Given the description of an element on the screen output the (x, y) to click on. 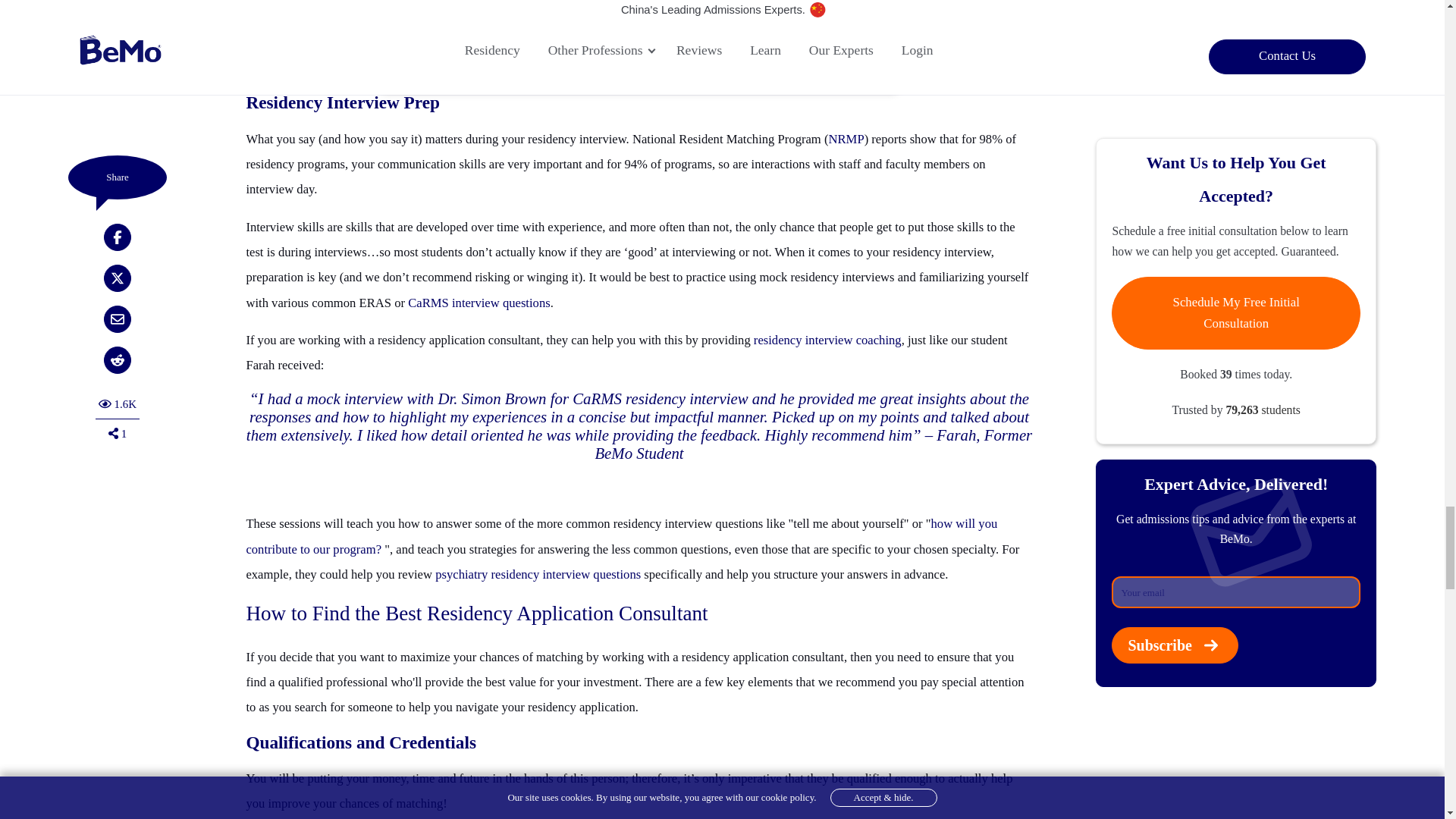
Customer reviews powered by Trustpilot (638, 61)
